Given the description of an element on the screen output the (x, y) to click on. 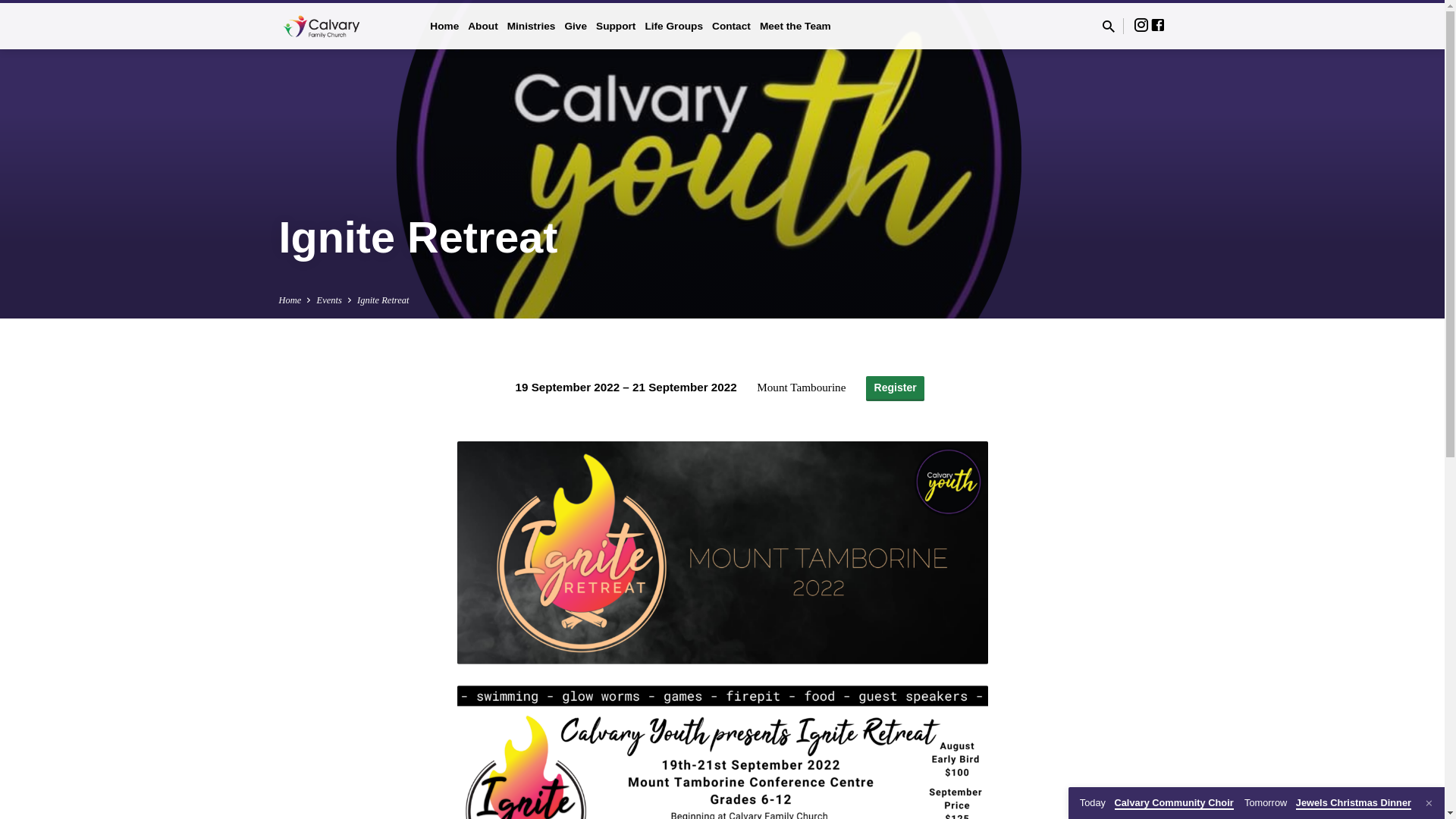
Ministries Element type: text (531, 35)
Open Search Element type: hover (1107, 27)
Contact Element type: text (731, 35)
Home Element type: text (290, 299)
Instagram Element type: hover (1140, 25)
Events Element type: text (329, 299)
About Element type: text (482, 35)
Ignite Retreat Element type: text (382, 299)
Register Element type: text (895, 388)
Life Groups Element type: text (673, 35)
Meet the Team Element type: text (795, 35)
Facebook Element type: hover (1157, 25)
Today Calvary Community Choir Element type: text (1156, 803)
Support Element type: text (615, 35)
Give Element type: text (575, 35)
Close Element type: hover (1429, 803)
Home Element type: text (443, 35)
Tomorrow Jewels Christmas Dinner Element type: text (1327, 803)
